Given the description of an element on the screen output the (x, y) to click on. 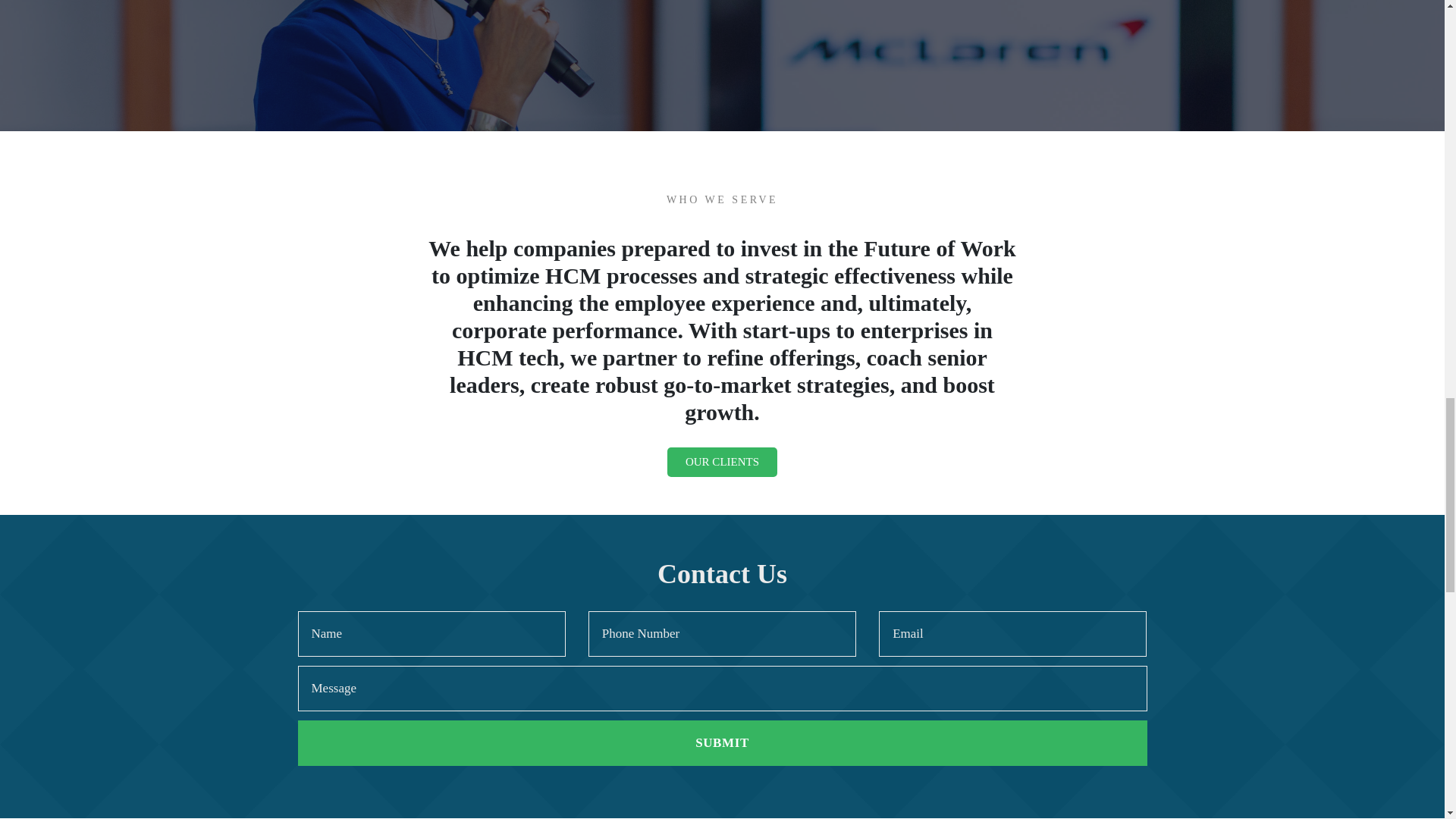
OUR CLIENTS (721, 461)
SUBMIT (722, 742)
